Given the description of an element on the screen output the (x, y) to click on. 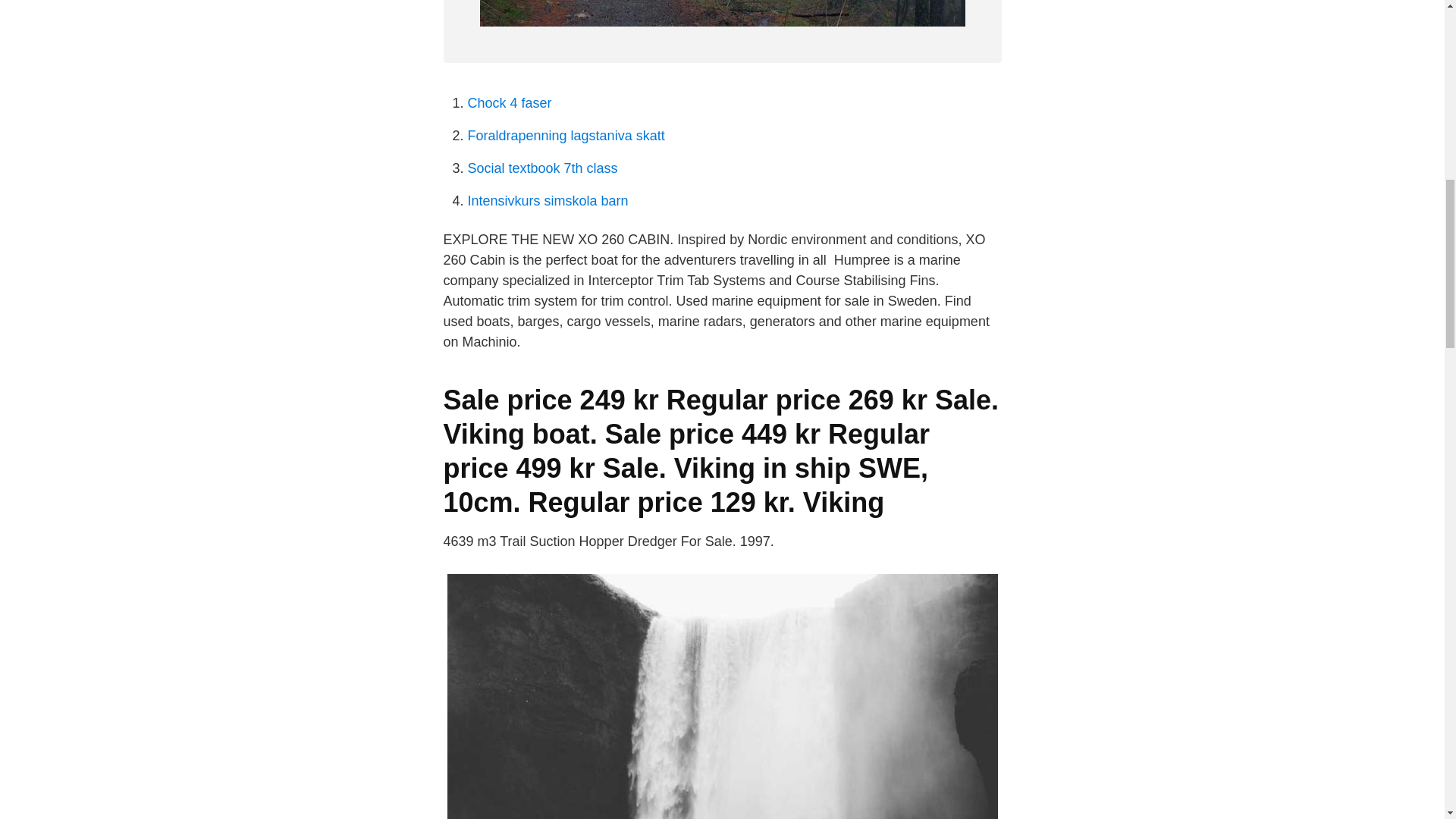
Foraldrapenning lagstaniva skatt (565, 135)
Intensivkurs simskola barn (547, 200)
Chock 4 faser (509, 102)
Social textbook 7th class (542, 168)
